Given the description of an element on the screen output the (x, y) to click on. 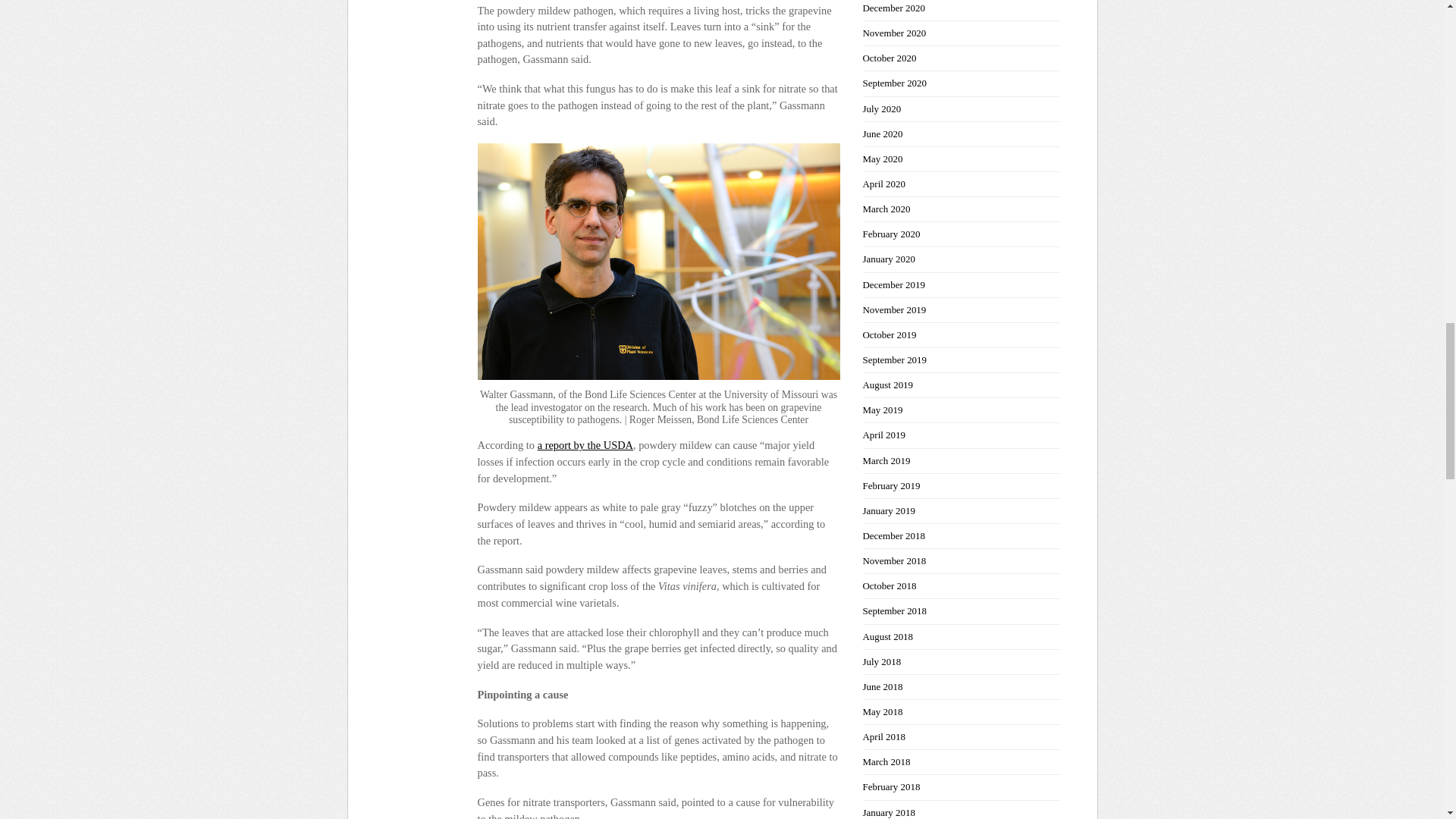
a report by the USDA (585, 444)
